Given the description of an element on the screen output the (x, y) to click on. 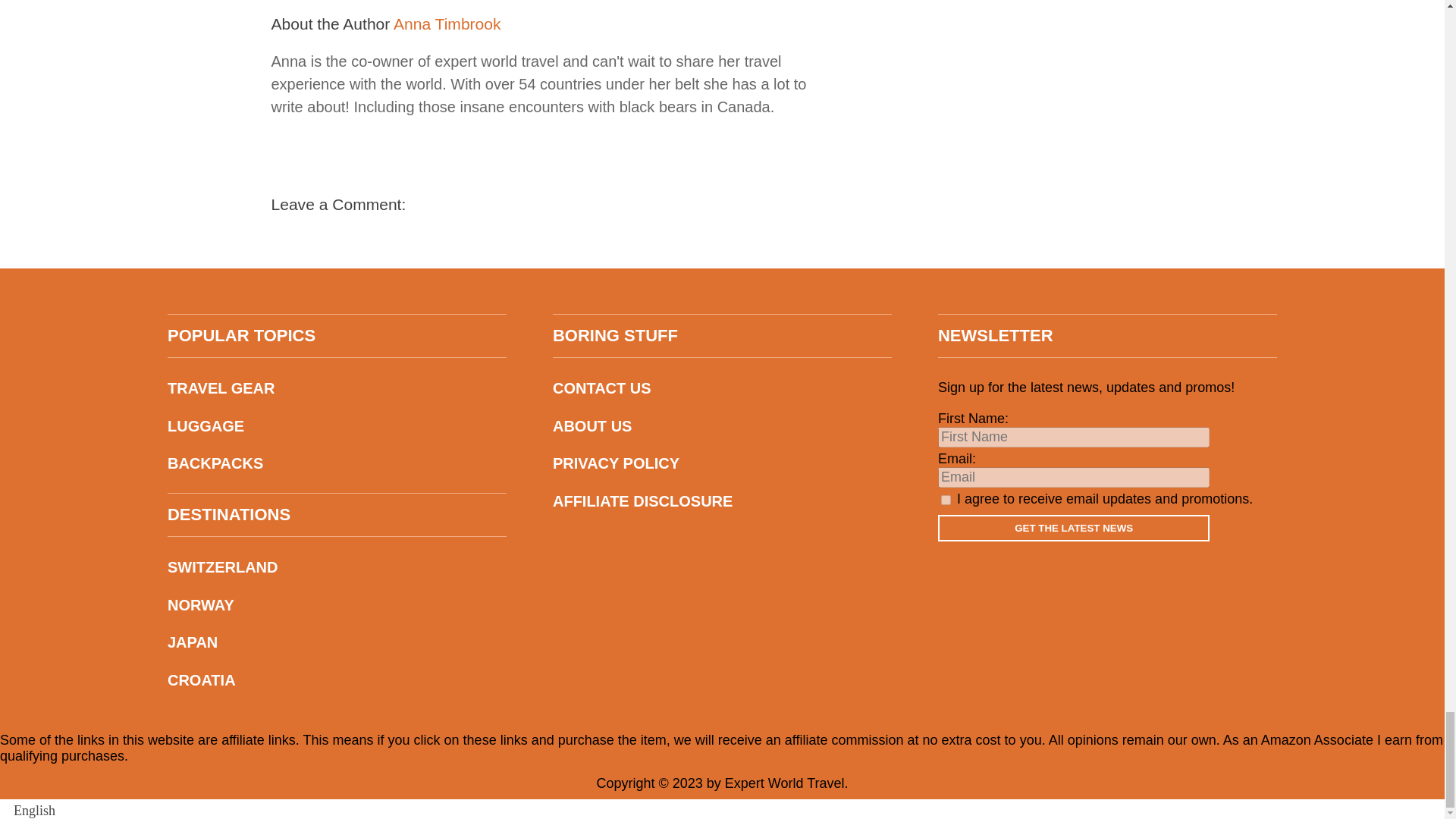
LUGGAGE (336, 425)
BACKPACKS (336, 463)
TRAVEL GEAR (336, 388)
NORWAY (336, 605)
1 (945, 500)
SWITZERLAND (336, 567)
Anna Timbrook (446, 23)
